Given the description of an element on the screen output the (x, y) to click on. 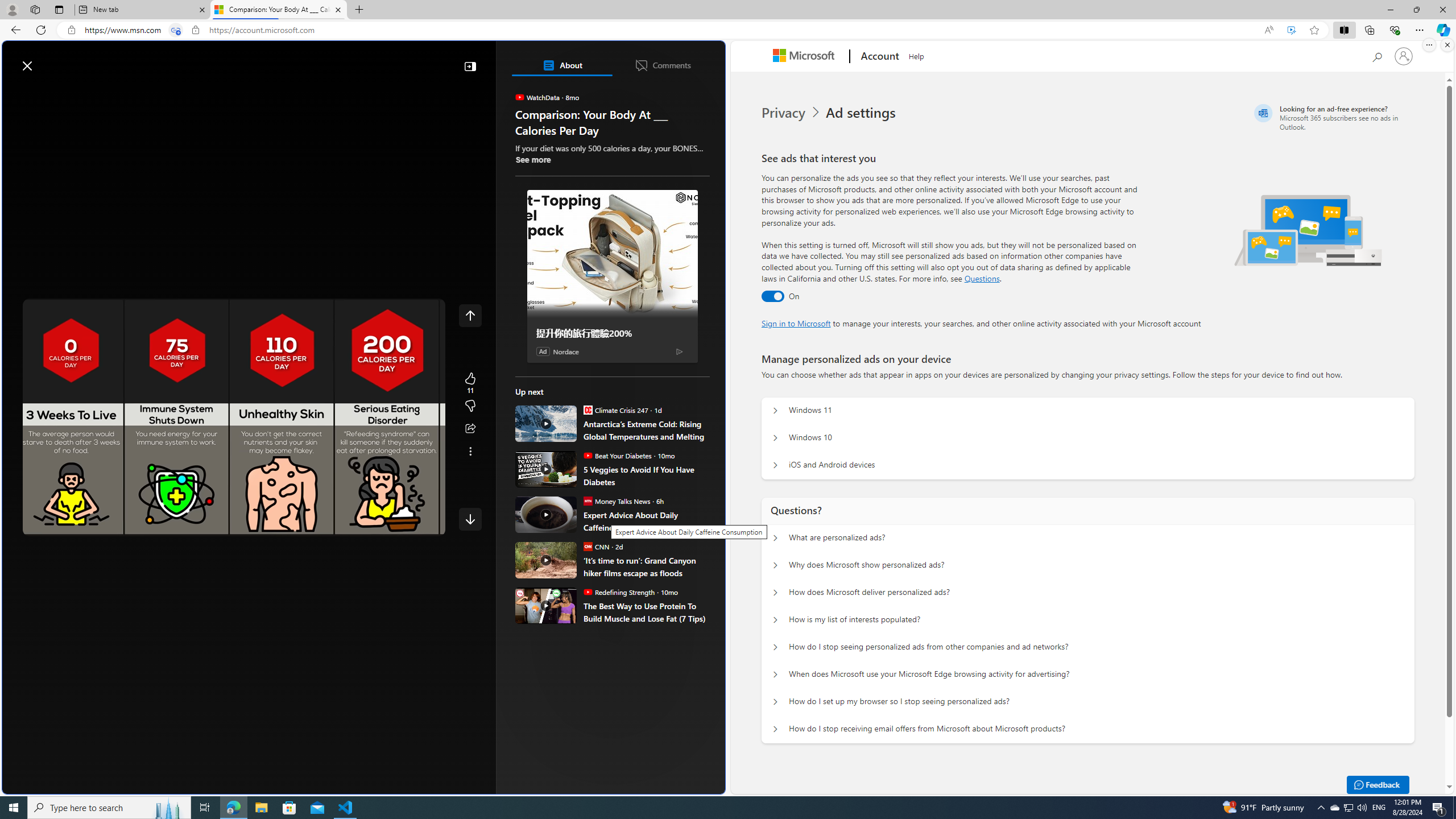
Expert Advice About Daily Caffeine Consumption (545, 514)
Unmute (m) (66, 525)
Microsoft Start (53, 60)
App bar (728, 29)
Climate Crisis 247 Climate Crisis 247 (614, 409)
Climate Crisis 247 (587, 409)
Tabs in split screen (175, 29)
Search Microsoft.com (1376, 54)
Sign in to your account (1404, 55)
